Given the description of an element on the screen output the (x, y) to click on. 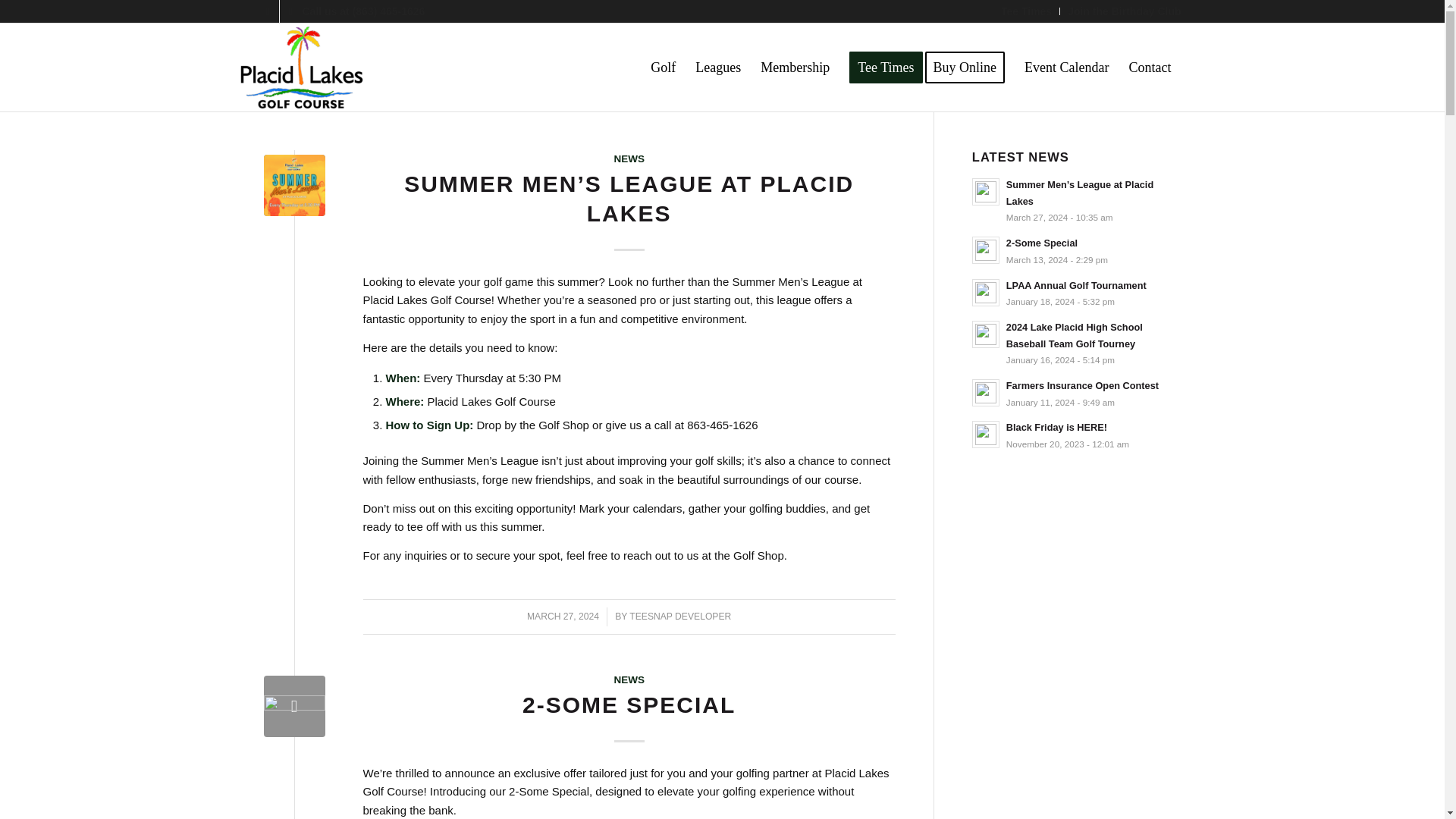
NEWS (628, 679)
Tee Times (1026, 11)
Membership (795, 67)
Permanent Link: 2-Some Special (628, 704)
Facebook (267, 11)
2-SOME SPECIAL (628, 704)
Join the Birthday Club (1123, 11)
Posts by Teesnap Developer (679, 615)
NEWS (628, 158)
Event Calendar (1066, 67)
Tee Times (885, 67)
TEESNAP DEVELOPER (679, 615)
Buy Online (969, 67)
Mail (290, 11)
